Given the description of an element on the screen output the (x, y) to click on. 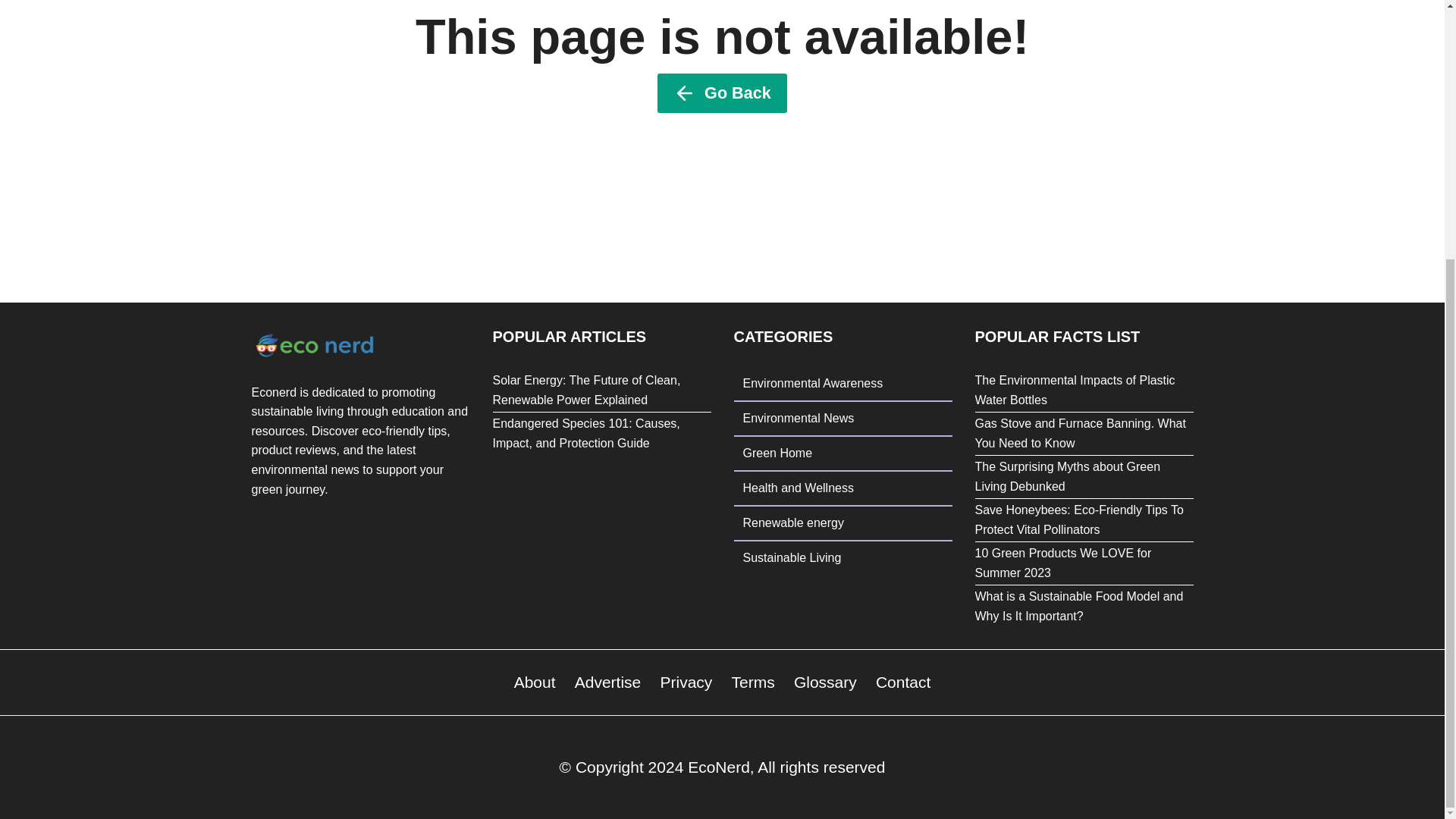
Endangered Species 101: Causes, Impact, and Protection Guide (586, 432)
Green Home (842, 453)
Contact (903, 682)
Solar Energy: The Future of Clean, Renewable Power Explained (587, 389)
Environmental News (842, 418)
Privacy (686, 682)
Health and Wellness (842, 488)
The Surprising Myths about Green Living Debunked (1067, 476)
About (533, 682)
Go Back (722, 93)
